Given the description of an element on the screen output the (x, y) to click on. 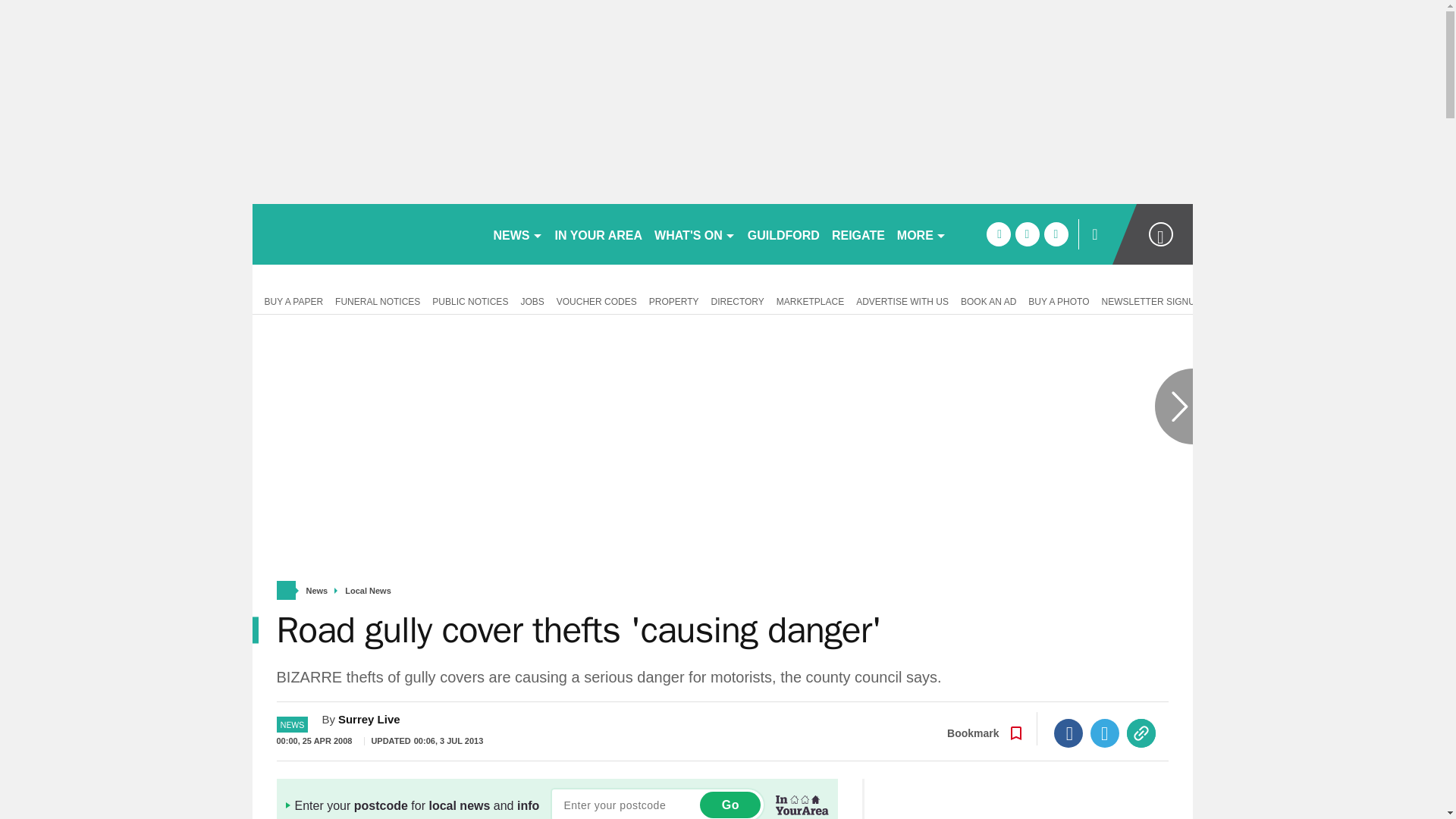
instagram (1055, 233)
VOUCHER CODES (596, 300)
FUNERAL NOTICES (377, 300)
BUY A PAPER (290, 300)
GUILDFORD (783, 233)
Facebook (1068, 733)
getsurrey (365, 233)
PROPERTY (673, 300)
JOBS (531, 300)
IN YOUR AREA (598, 233)
